Given the description of an element on the screen output the (x, y) to click on. 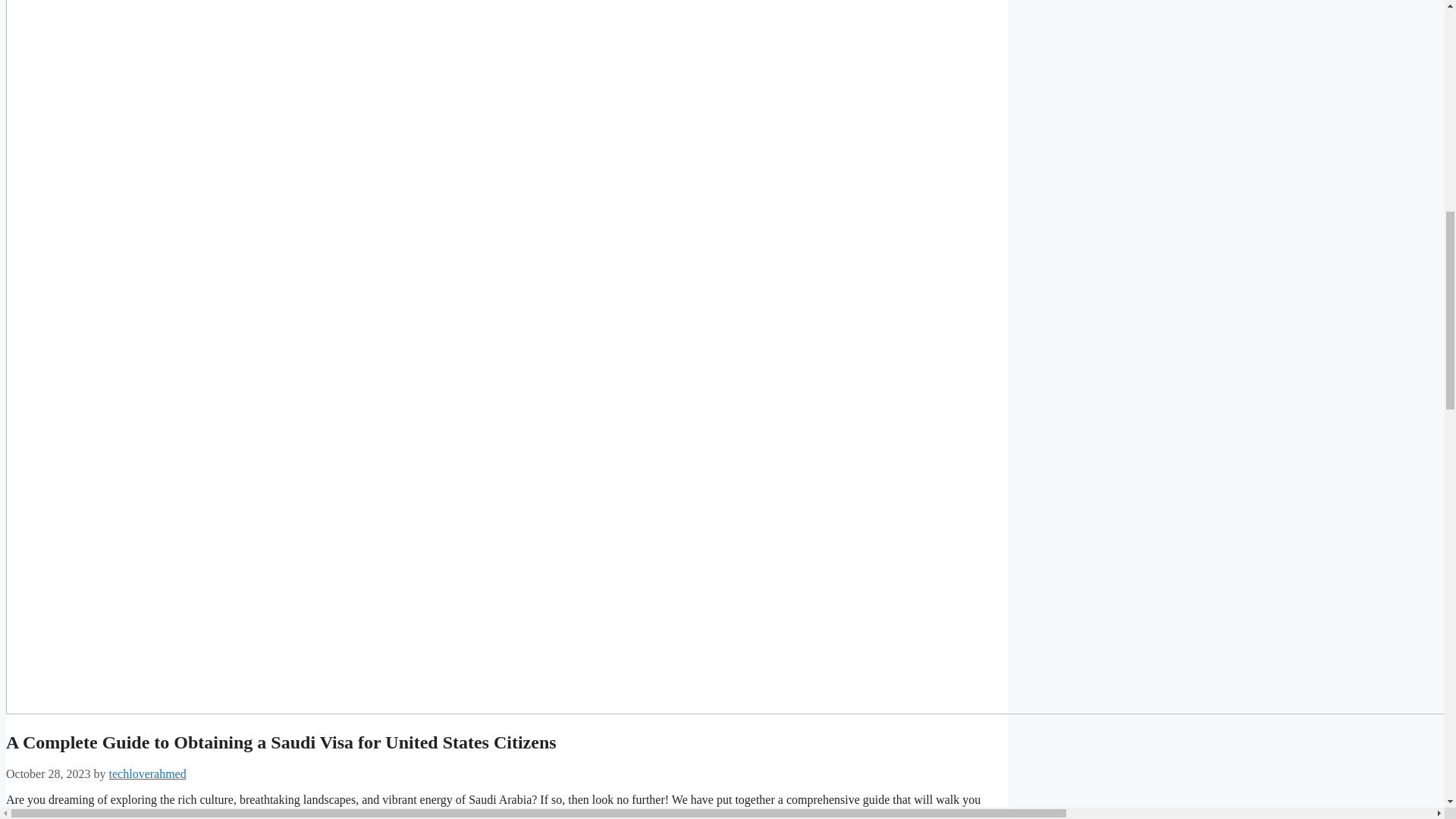
techloverahmed (147, 773)
View all posts by techloverahmed (147, 773)
